Given the description of an element on the screen output the (x, y) to click on. 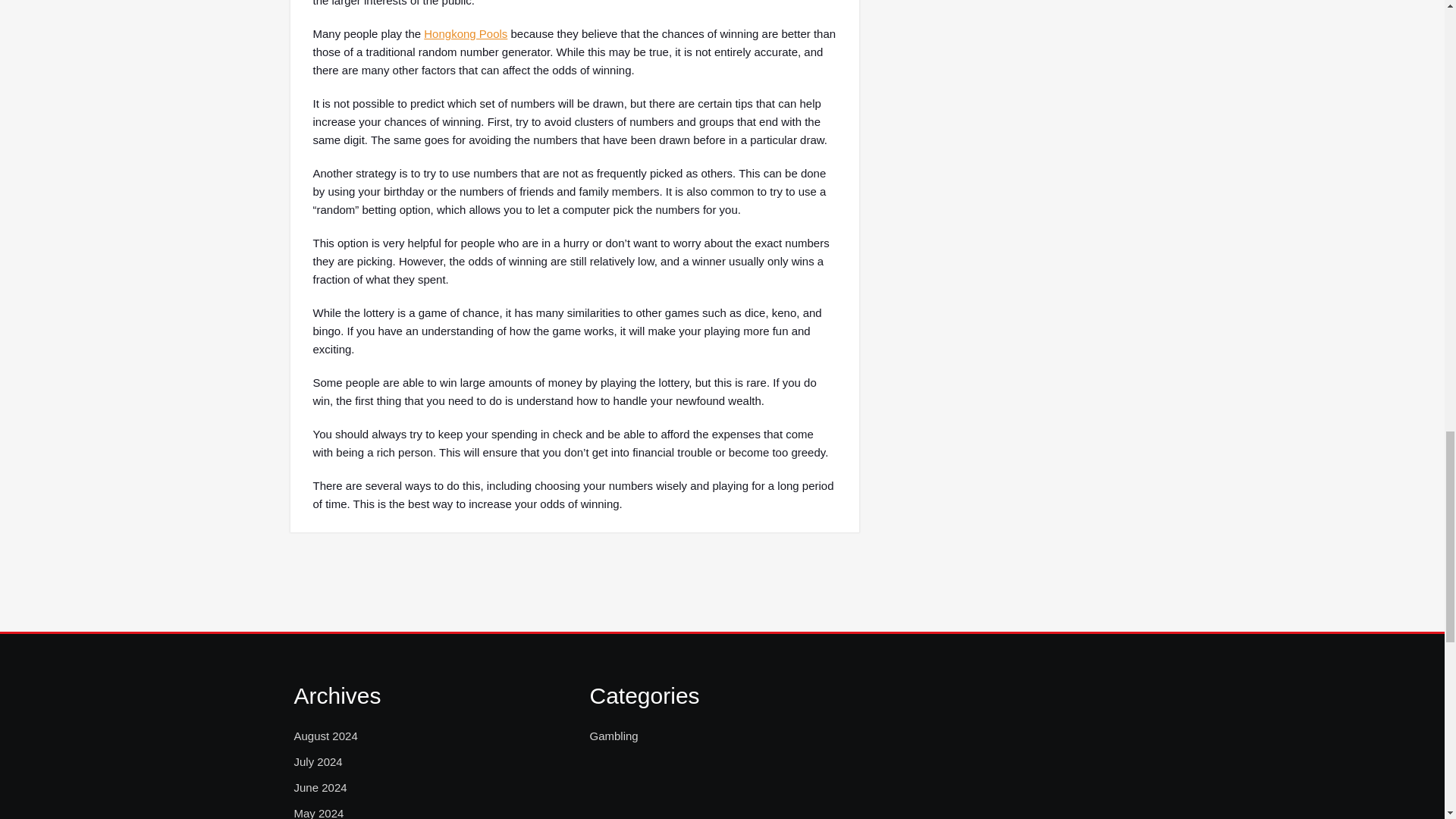
May 2024 (318, 811)
July 2024 (318, 761)
June 2024 (320, 787)
Hongkong Pools (464, 33)
August 2024 (326, 736)
